Given the description of an element on the screen output the (x, y) to click on. 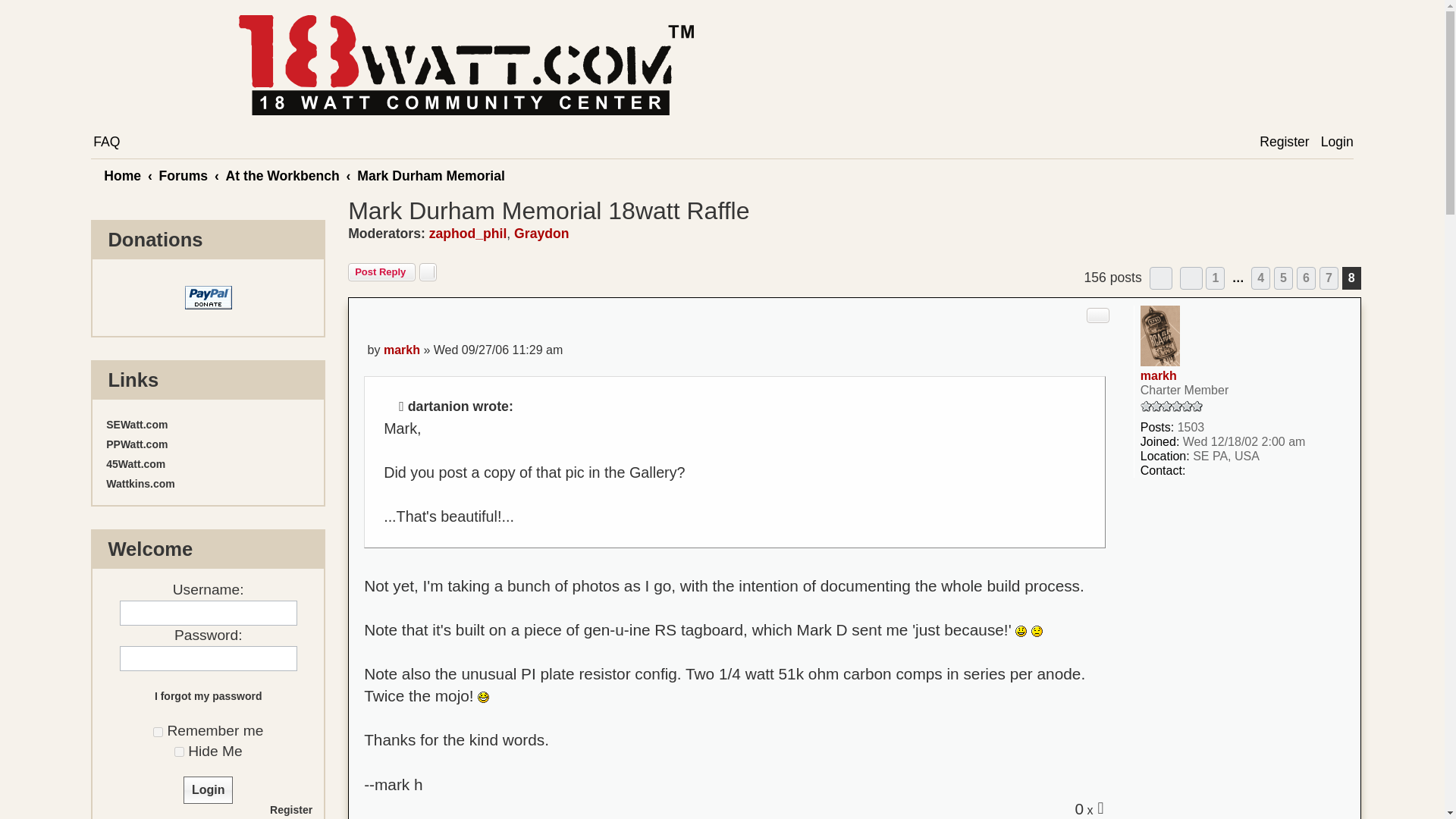
Register (291, 809)
Quote (1097, 314)
FAQ (104, 142)
Login (207, 789)
Wattkins.com (208, 483)
Forums (183, 175)
Register (1282, 142)
Mark Durham Memorial 18watt Raffle (548, 211)
Page of (1161, 277)
Reply with quote (1097, 314)
